Given the description of an element on the screen output the (x, y) to click on. 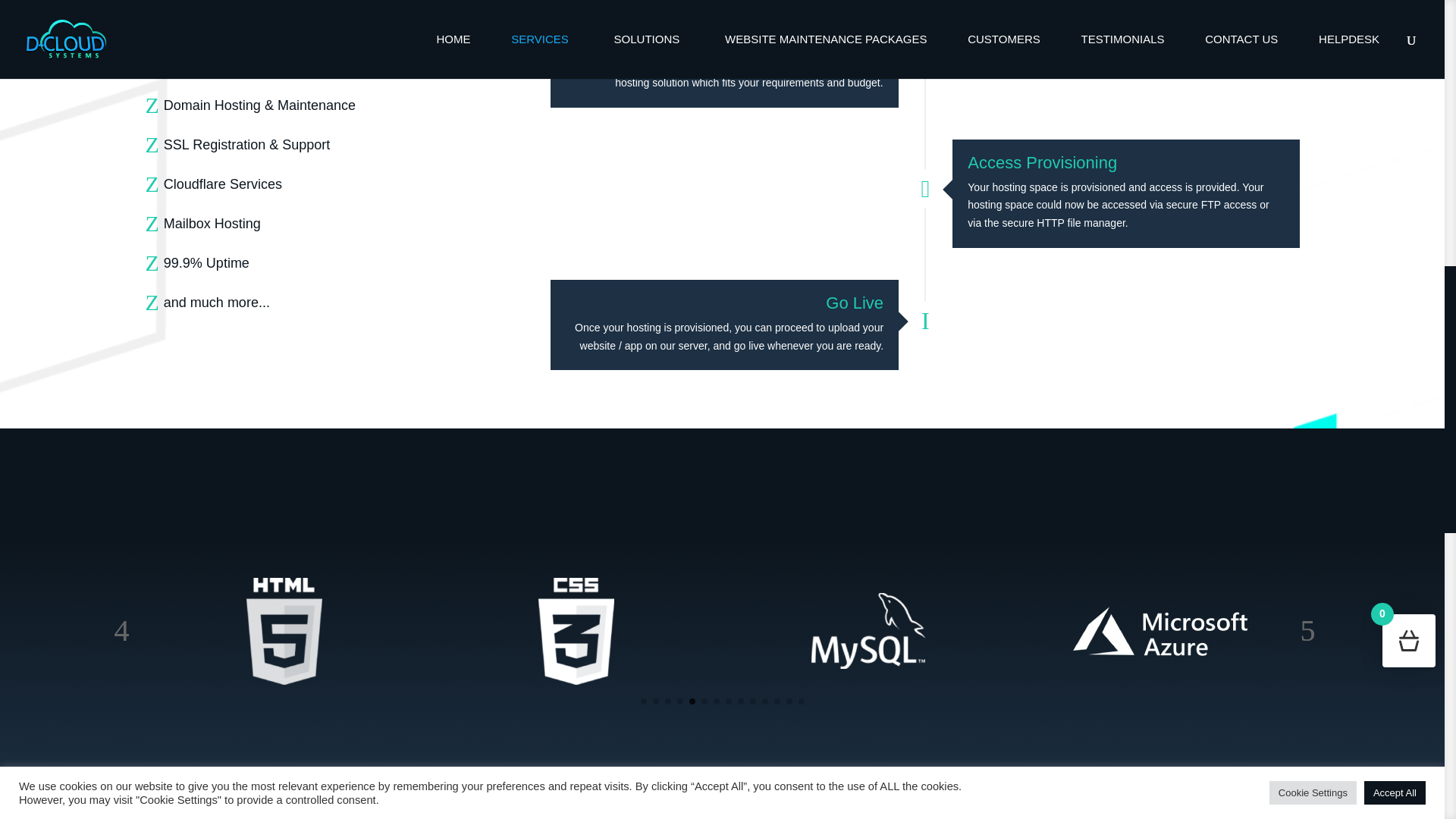
azure (1160, 631)
mysql (867, 630)
